Given the description of an element on the screen output the (x, y) to click on. 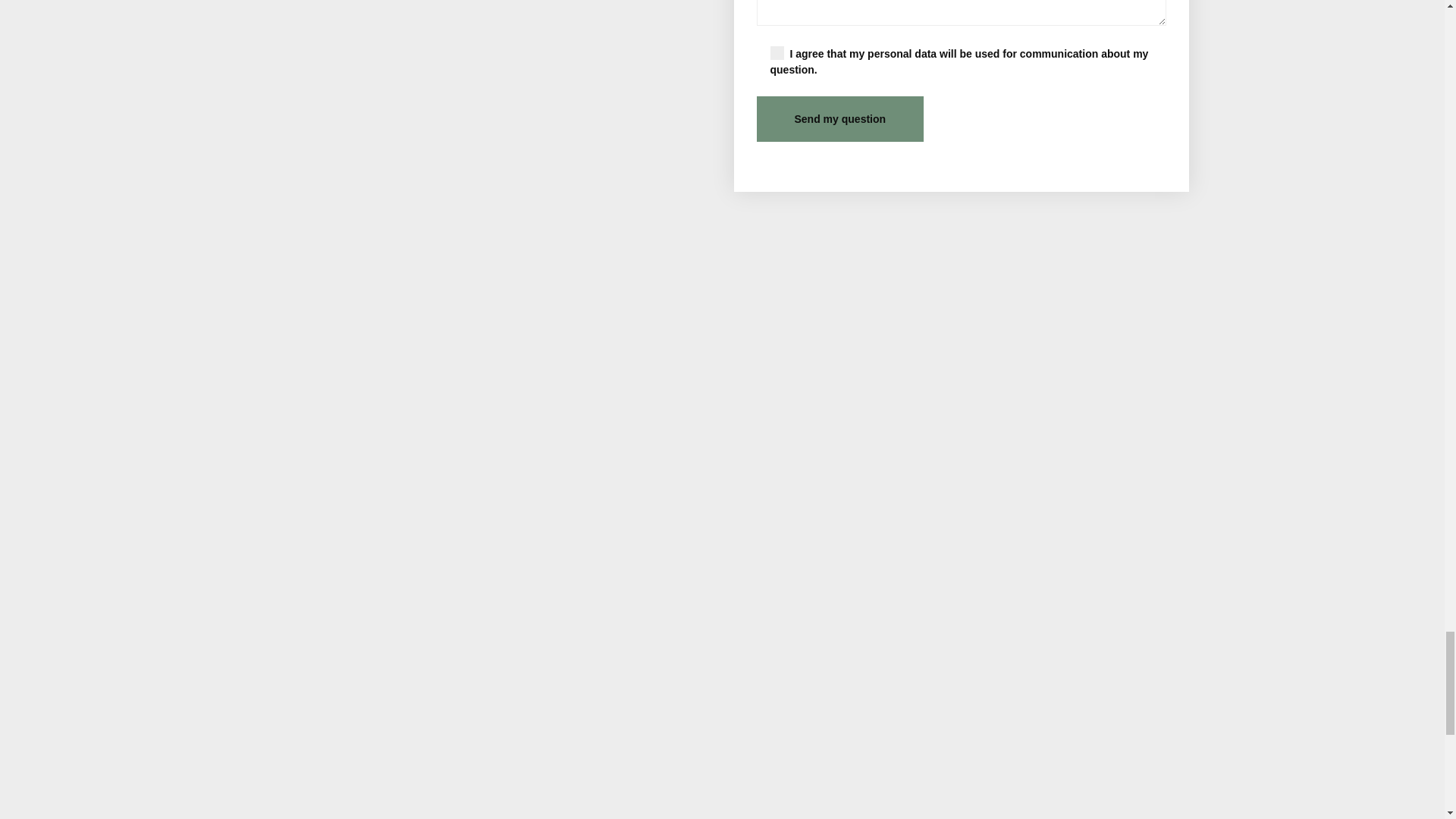
1 (777, 52)
Send my question (840, 118)
Send my question (840, 118)
